Given the description of an element on the screen output the (x, y) to click on. 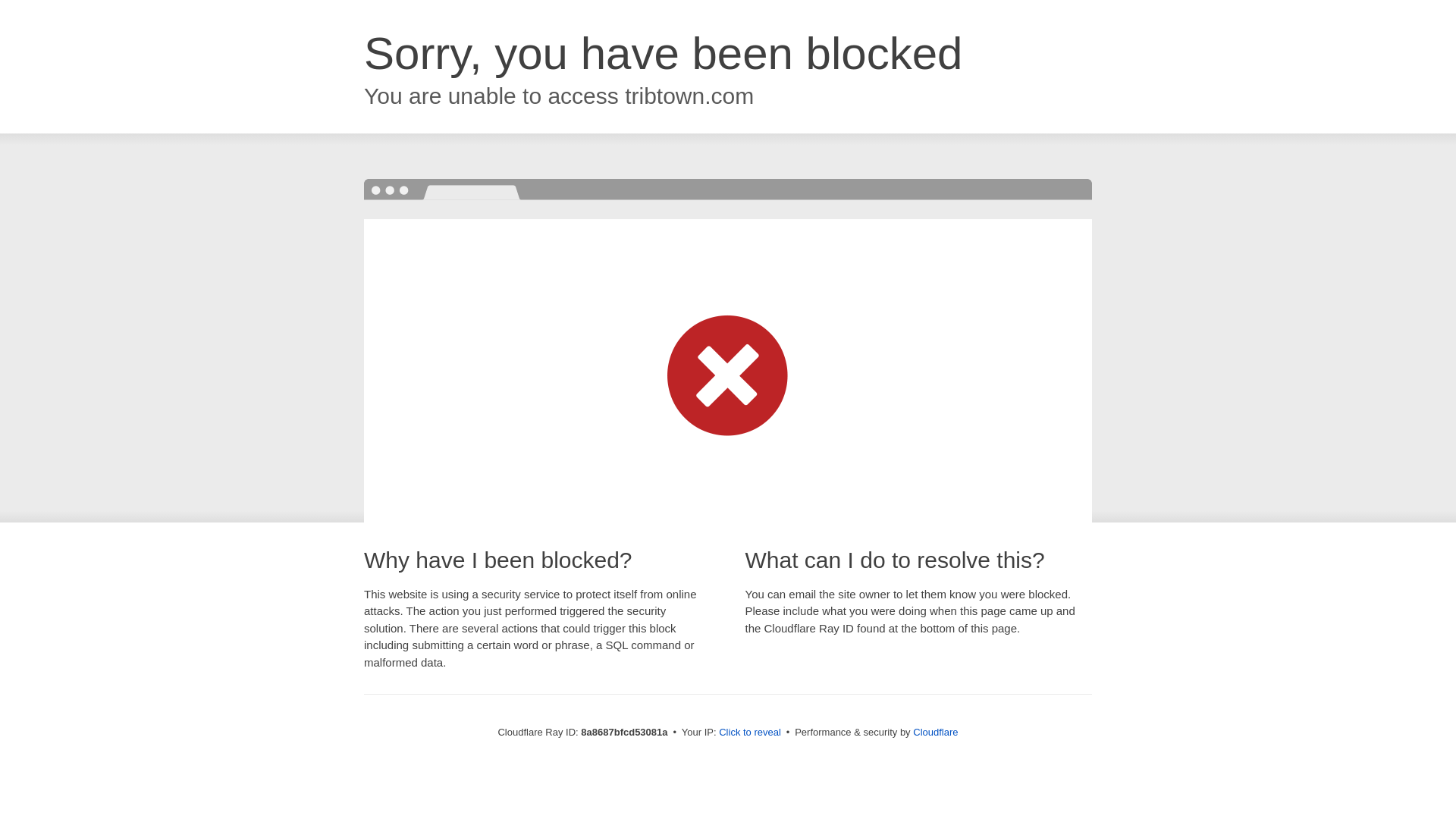
Click to reveal (749, 732)
Cloudflare (935, 731)
